Given the description of an element on the screen output the (x, y) to click on. 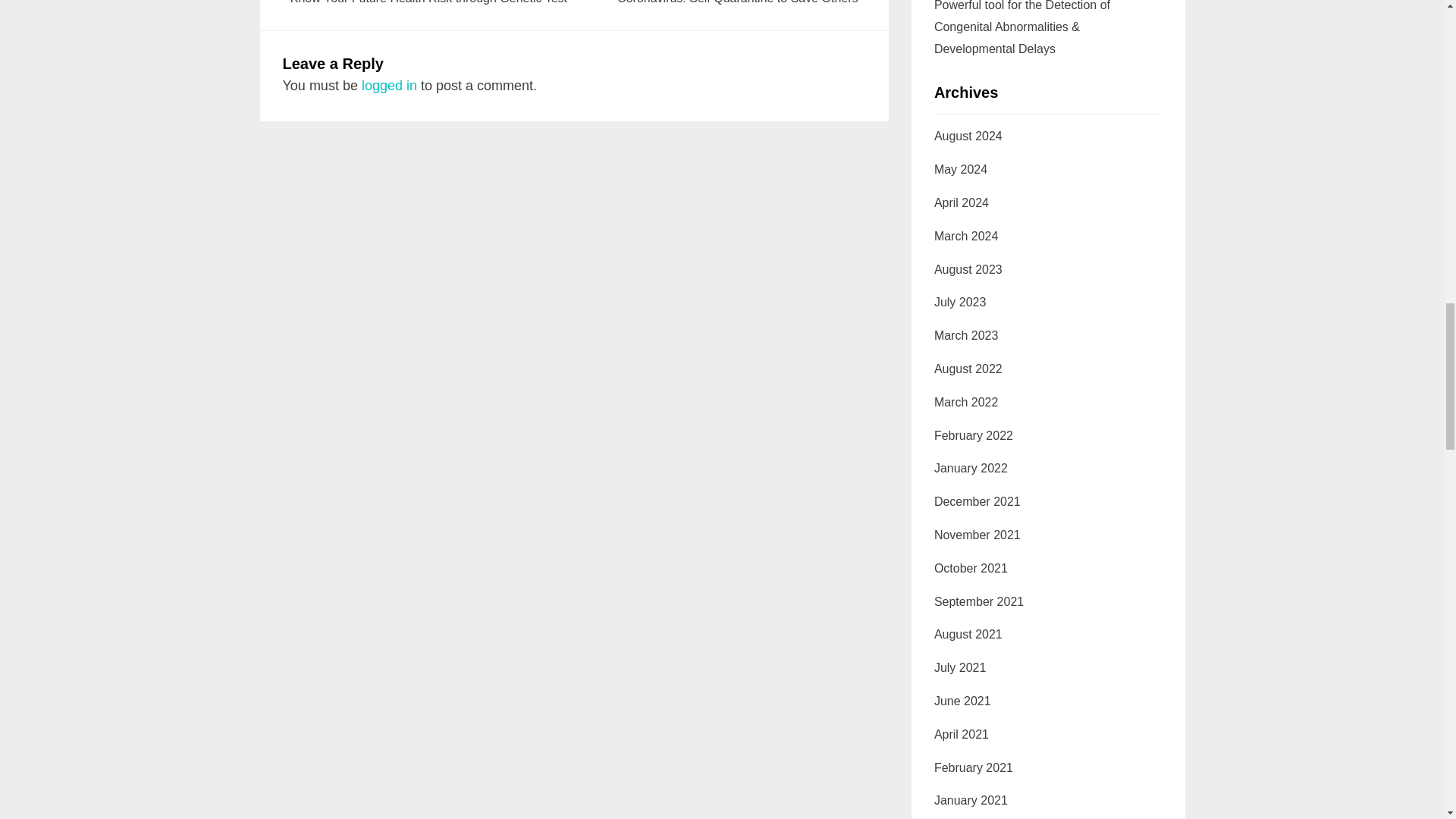
logged in (717, 3)
